Given the description of an element on the screen output the (x, y) to click on. 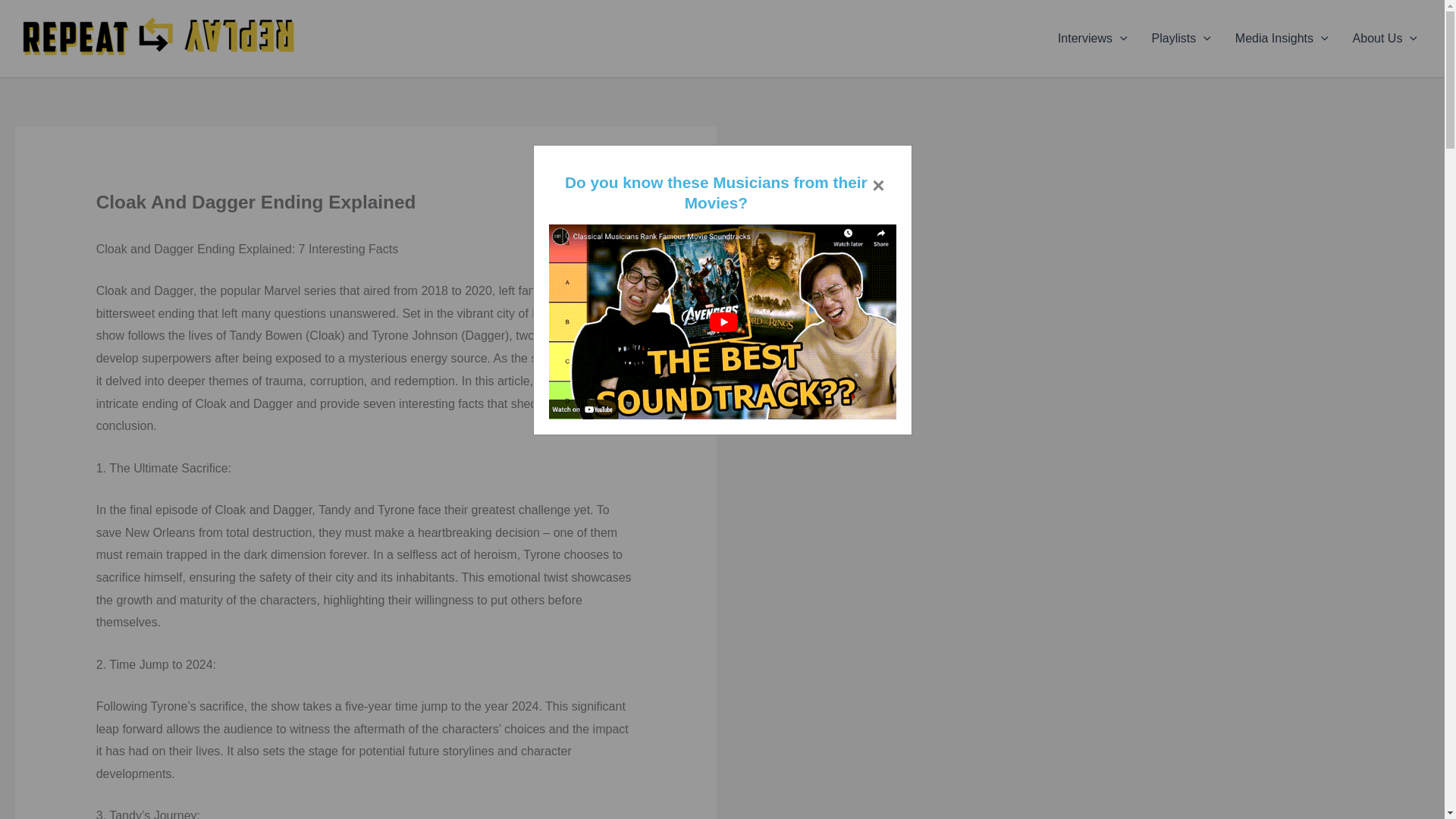
About Us (1384, 38)
Media Insights (1281, 38)
Interviews (1092, 38)
Playlists (1181, 38)
